Given the description of an element on the screen output the (x, y) to click on. 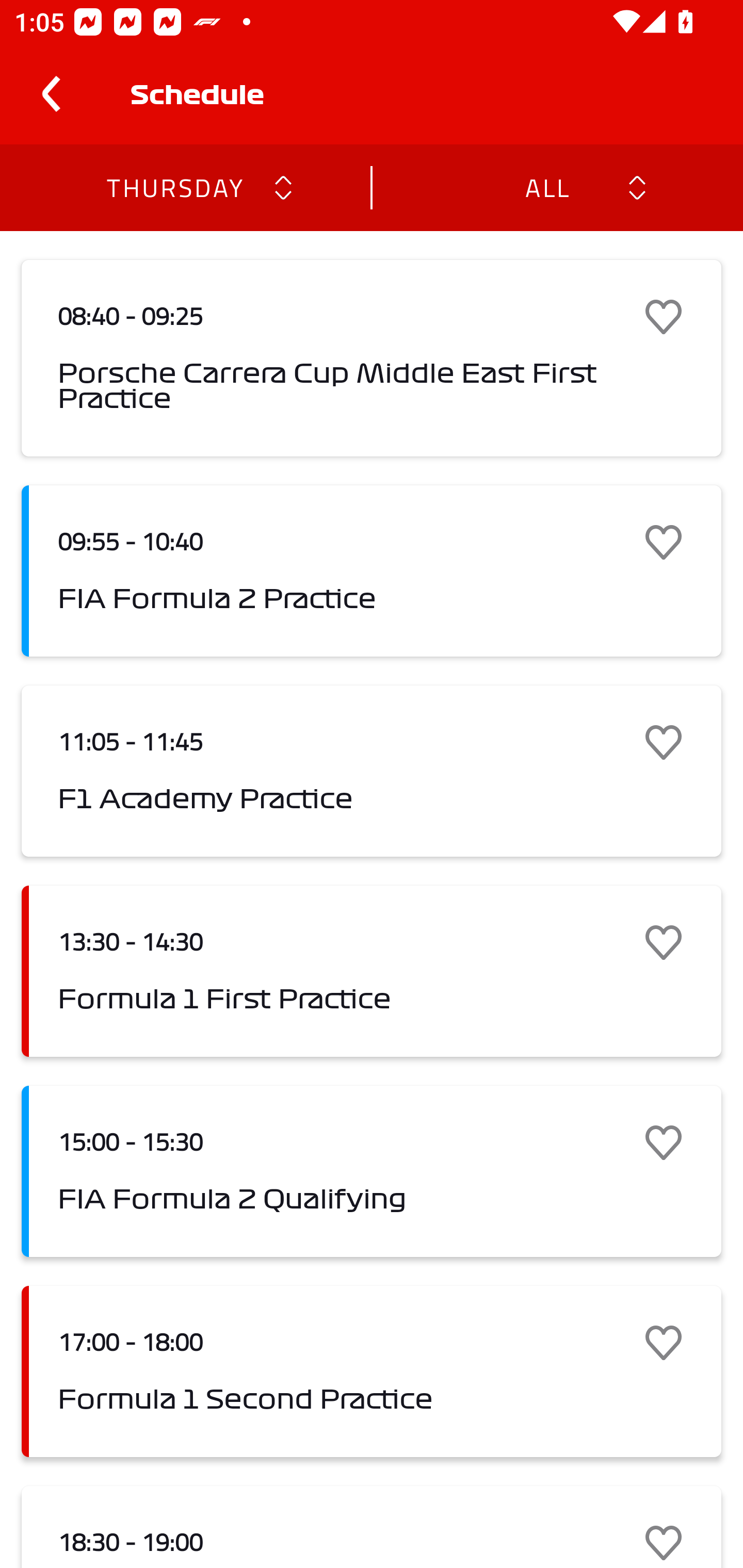
Navigate up (50, 93)
THURSDAY (174, 187)
ALL (546, 187)
09:55 - 10:40 FIA Formula 2 Practice (371, 571)
11:05 - 11:45 F1 Academy Practice (371, 770)
13:30 - 14:30 Formula 1 First Practice (371, 970)
15:00 - 15:30 FIA Formula 2 Qualifying (371, 1171)
17:00 - 18:00 Formula 1 Second Practice (371, 1370)
18:30 - 19:00 (371, 1527)
